Given the description of an element on the screen output the (x, y) to click on. 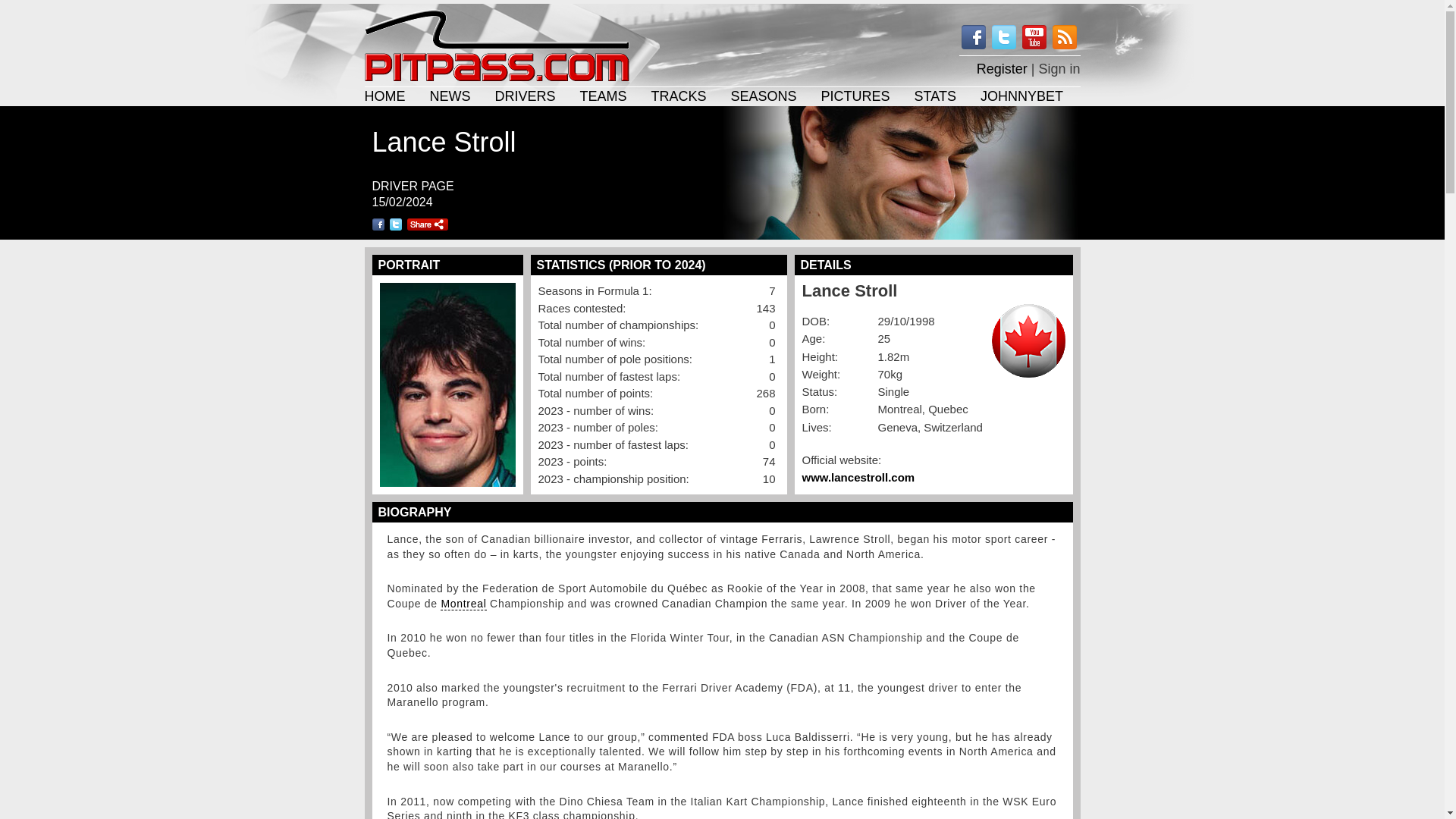
NEWS (449, 96)
DRIVERS (524, 96)
Post this to Twitter (395, 224)
Sign in (1059, 65)
Register (1001, 65)
HOME (384, 96)
Post this to Facebook (377, 224)
Click here for the home page (496, 44)
